Given the description of an element on the screen output the (x, y) to click on. 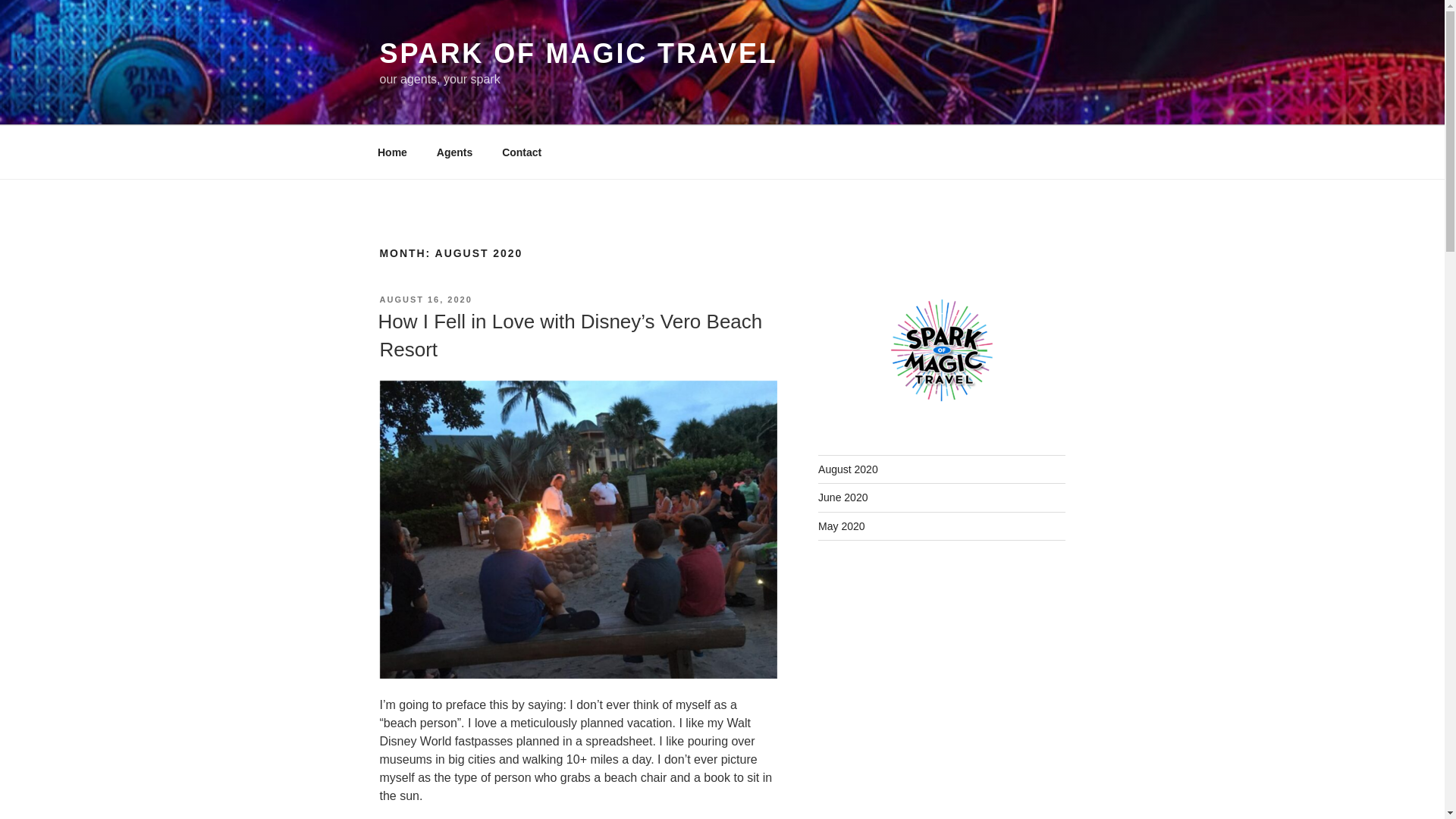
AUGUST 16, 2020 (424, 298)
Agents (453, 151)
May 2020 (841, 526)
SPARK OF MAGIC TRAVEL (577, 52)
Home (392, 151)
August 2020 (847, 469)
June 2020 (842, 497)
Contact (521, 151)
